Given the description of an element on the screen output the (x, y) to click on. 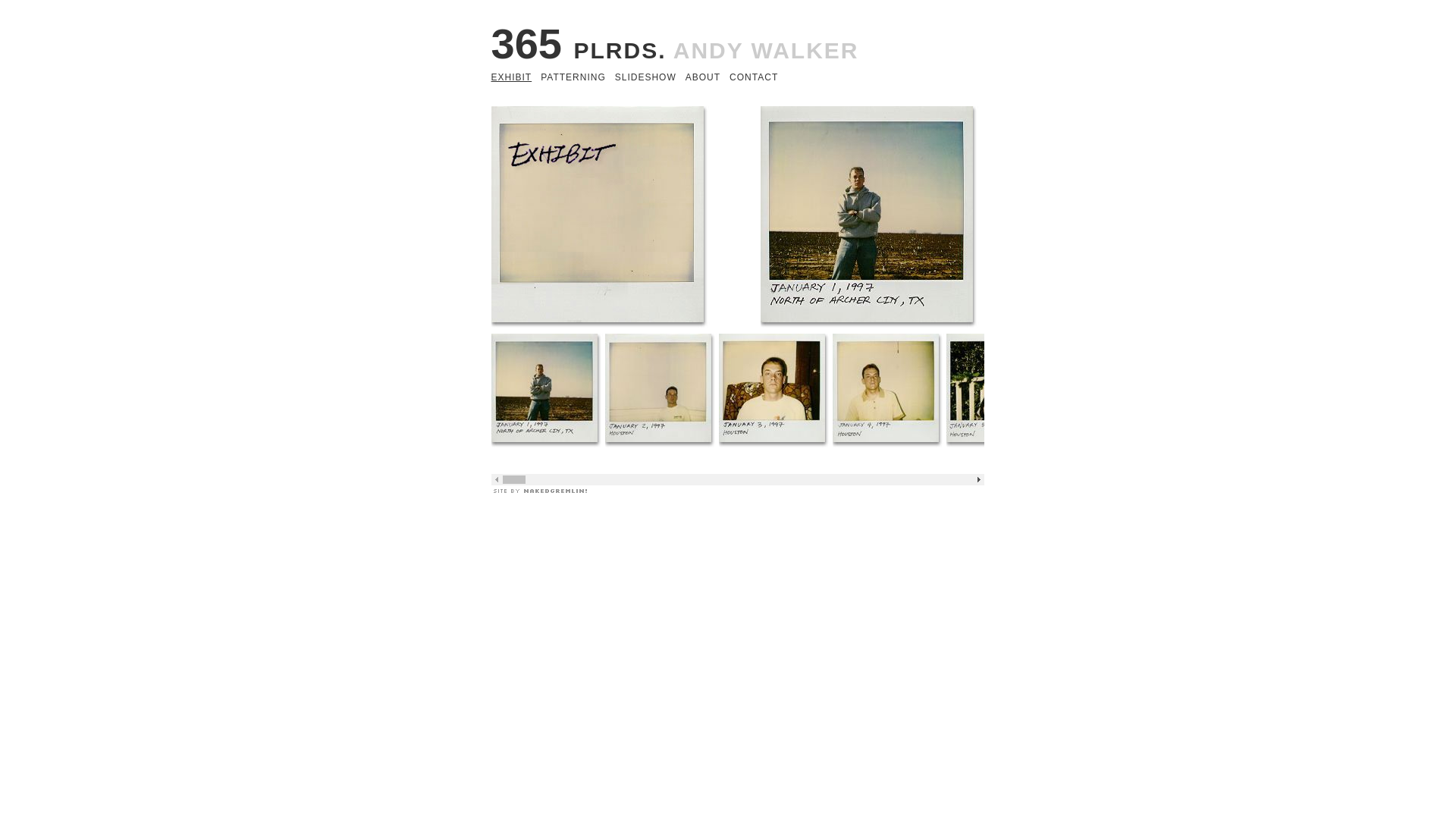
ABOUT Element type: text (702, 77)
PATTERNING Element type: text (572, 77)
CONTACT Element type: text (753, 77)
SLIDESHOW Element type: text (645, 77)
365 PLRDS. ANDY WALKER Element type: text (675, 43)
EXHIBIT Element type: text (511, 77)
